Given the description of an element on the screen output the (x, y) to click on. 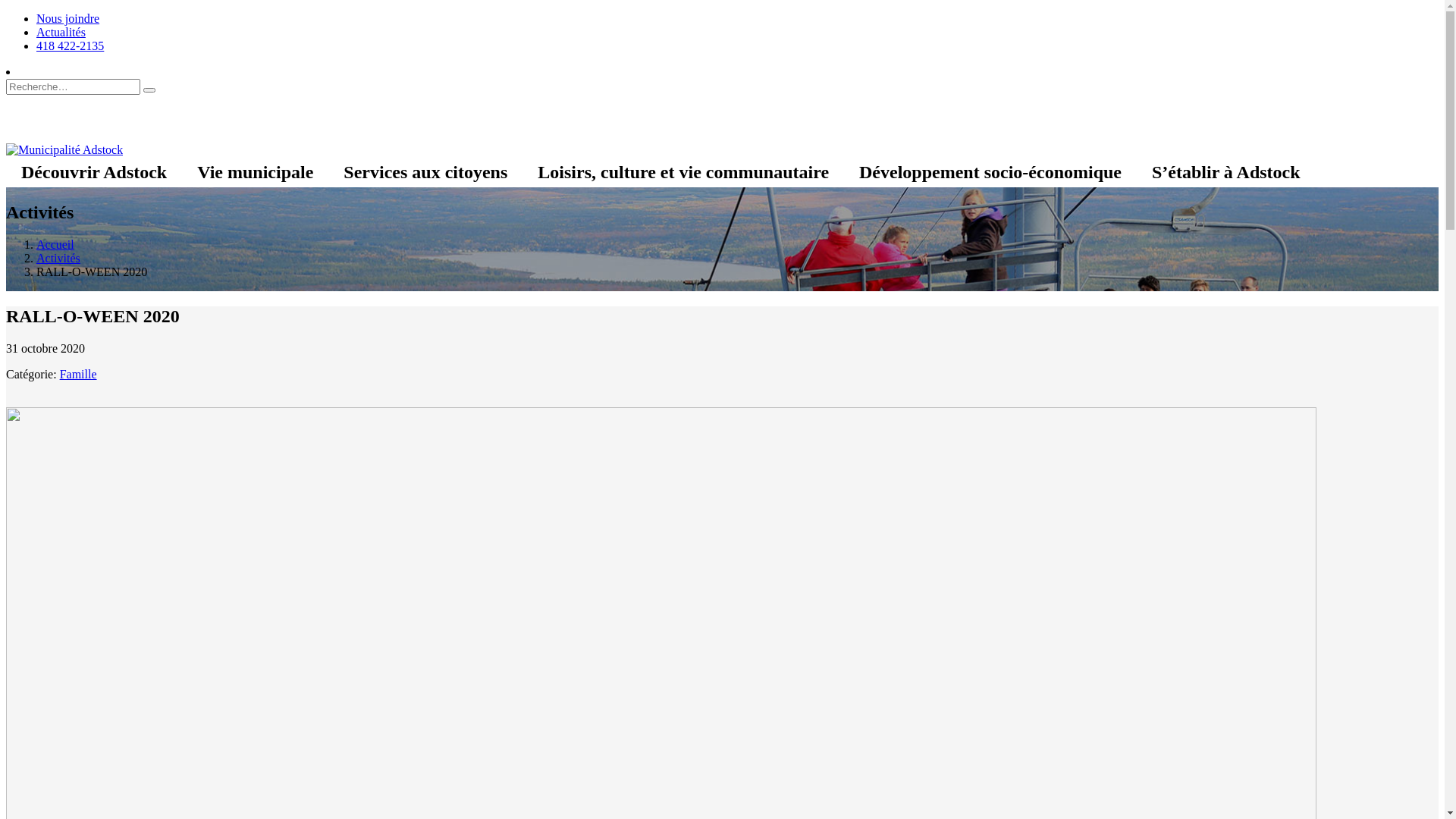
Loisirs, culture et vie communautaire Element type: text (683, 171)
Famille Element type: text (78, 373)
Nous joindre Element type: text (67, 18)
Aller au contenu principal Element type: text (5, 11)
Recherche Element type: text (149, 89)
418 422-2135 Element type: text (69, 45)
Vie municipale Element type: text (255, 171)
Accueil Element type: text (55, 244)
Services aux citoyens Element type: text (425, 171)
